Given the description of an element on the screen output the (x, y) to click on. 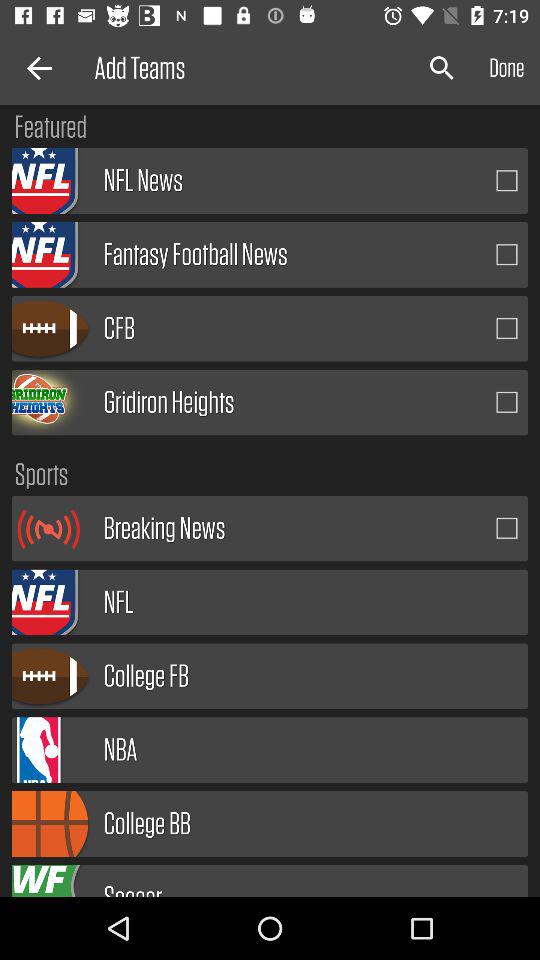
select item (507, 402)
